Given the description of an element on the screen output the (x, y) to click on. 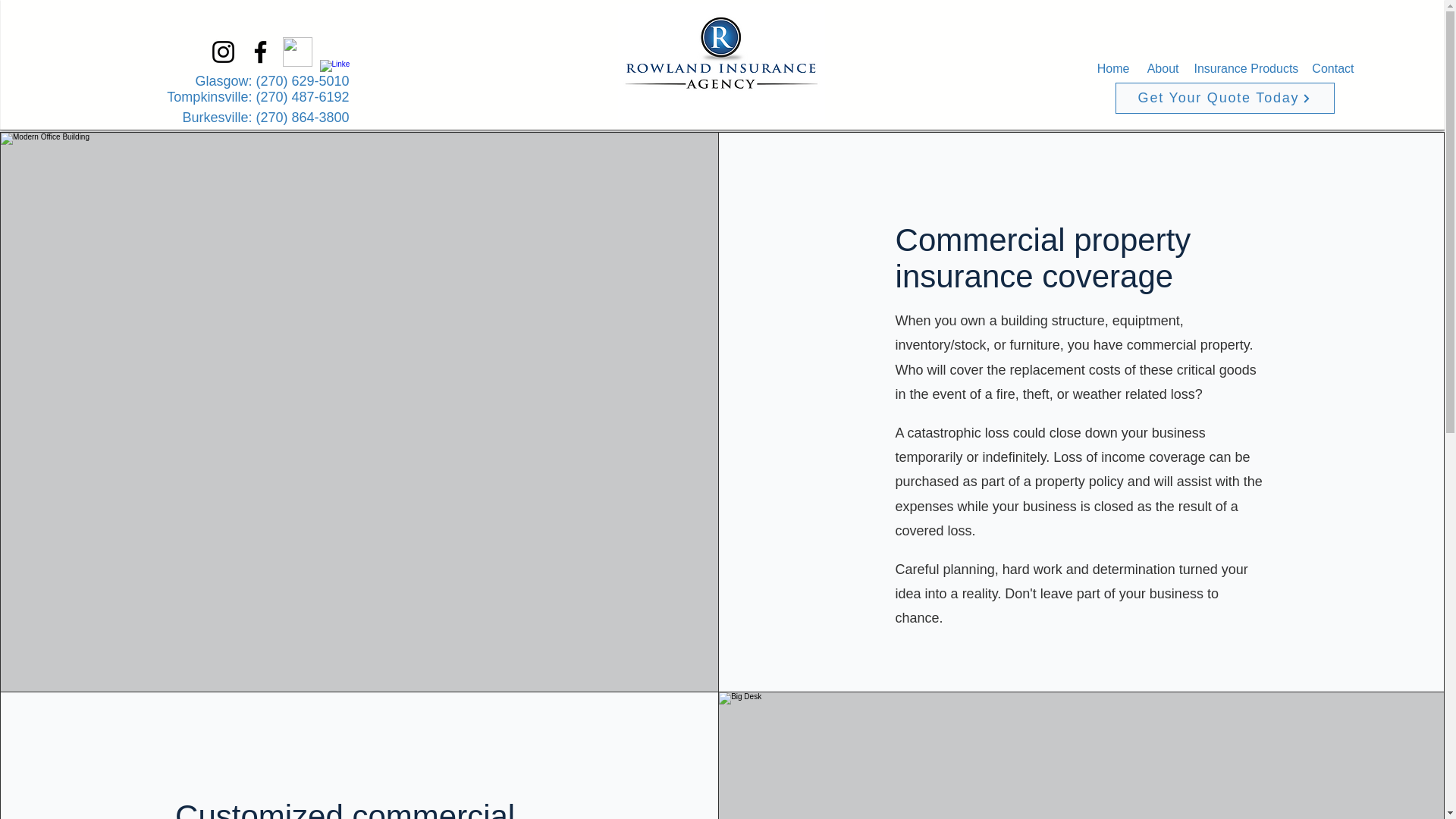
Contact (1332, 68)
Get Your Quote Today (1224, 97)
Home (1112, 68)
Insurance Products (1244, 68)
About (1161, 68)
